Given the description of an element on the screen output the (x, y) to click on. 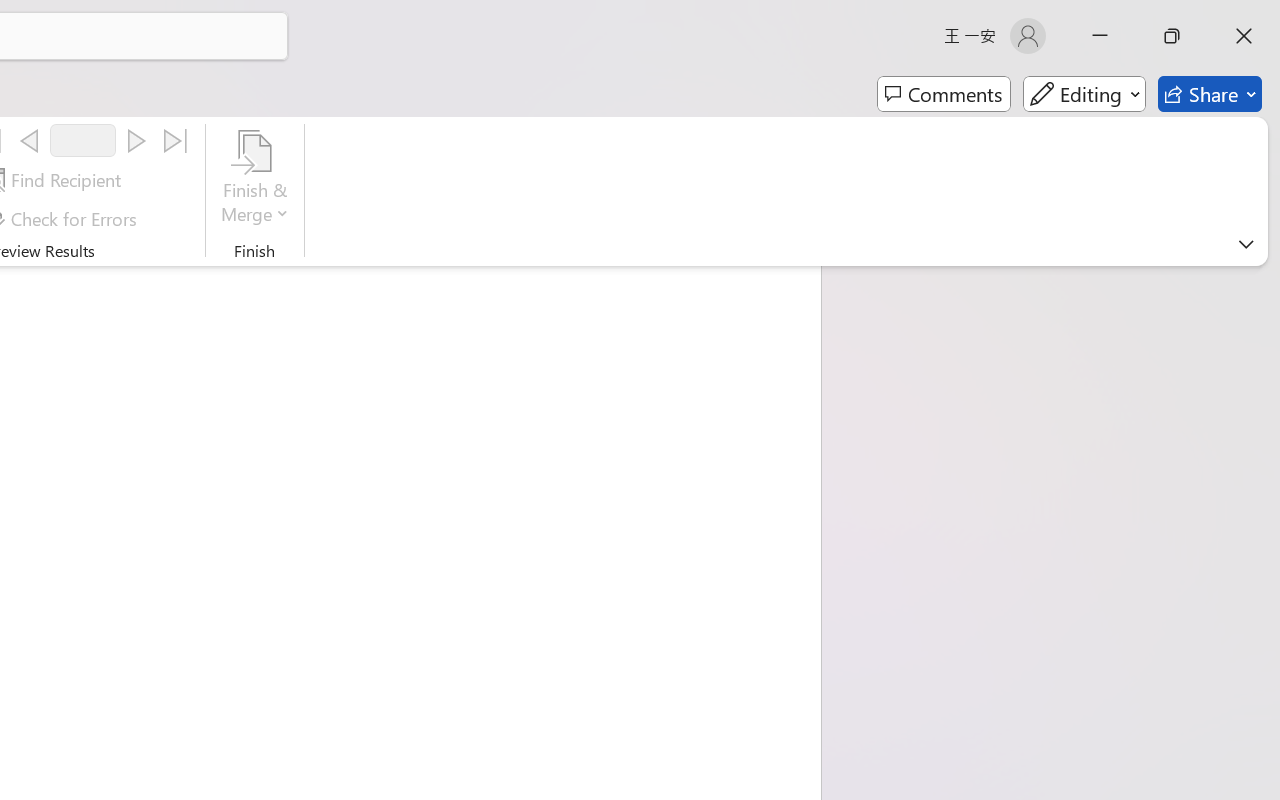
Share (1210, 94)
Restore Down (1172, 36)
Mode (1083, 94)
Comments (943, 94)
Close (1244, 36)
Minimize (1099, 36)
